Given the description of an element on the screen output the (x, y) to click on. 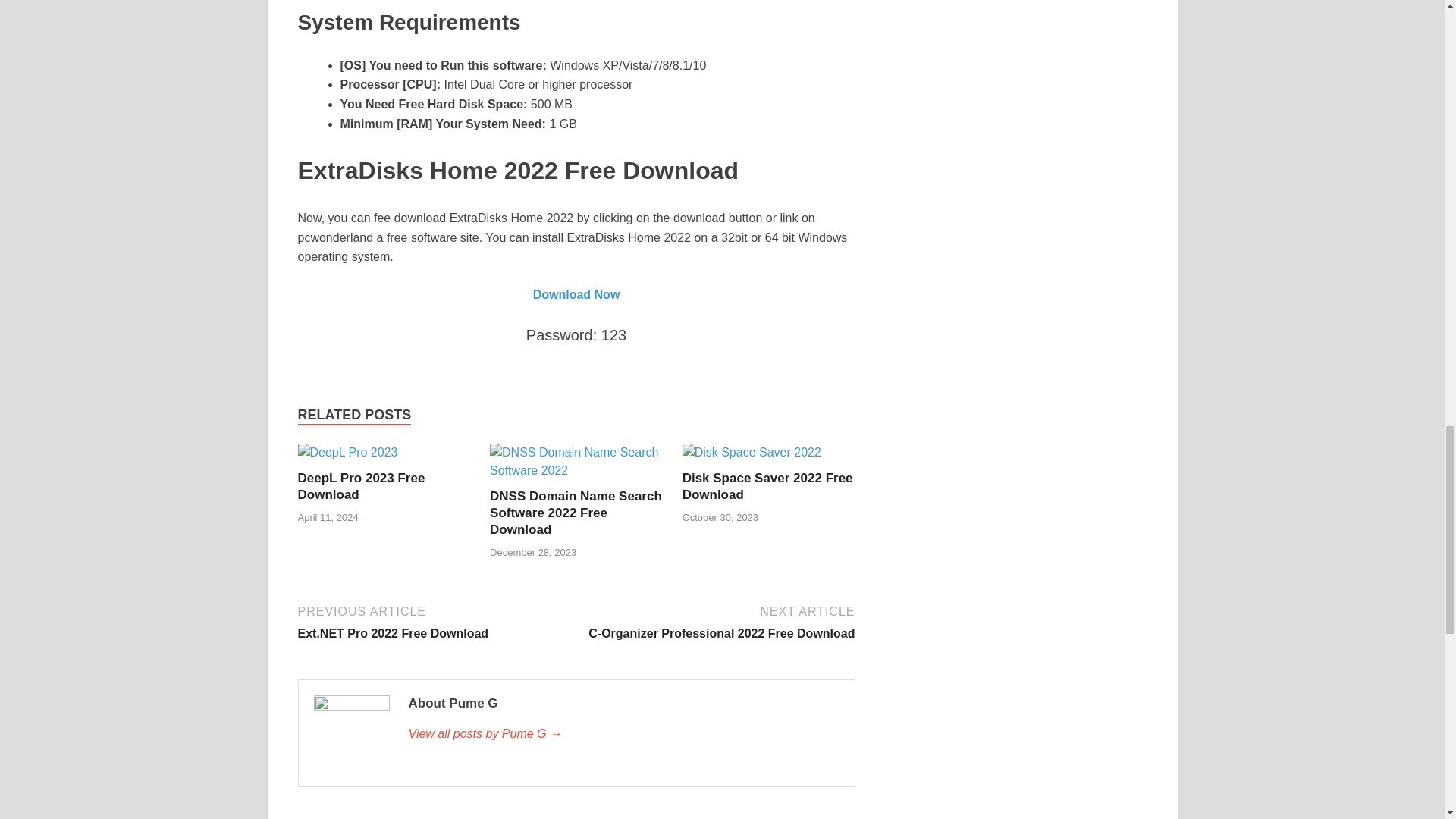
Disk Space Saver 2022 Free Download (751, 451)
DeepL Pro 2023 Free Download (361, 486)
Pume G (434, 620)
DNSS Domain Name Search Software 2022 Free Download (622, 733)
Disk Space Saver 2022 Free Download (575, 470)
DeepL Pro 2023 Free Download (767, 486)
Download Now (361, 486)
DeepL Pro 2023 Free Download (576, 294)
Disk Space Saver 2022 Free Download (347, 451)
DNSS Domain Name Search Software 2022 Free Download (717, 620)
DNSS Domain Name Search Software 2022 Free Download (767, 486)
